Given the description of an element on the screen output the (x, y) to click on. 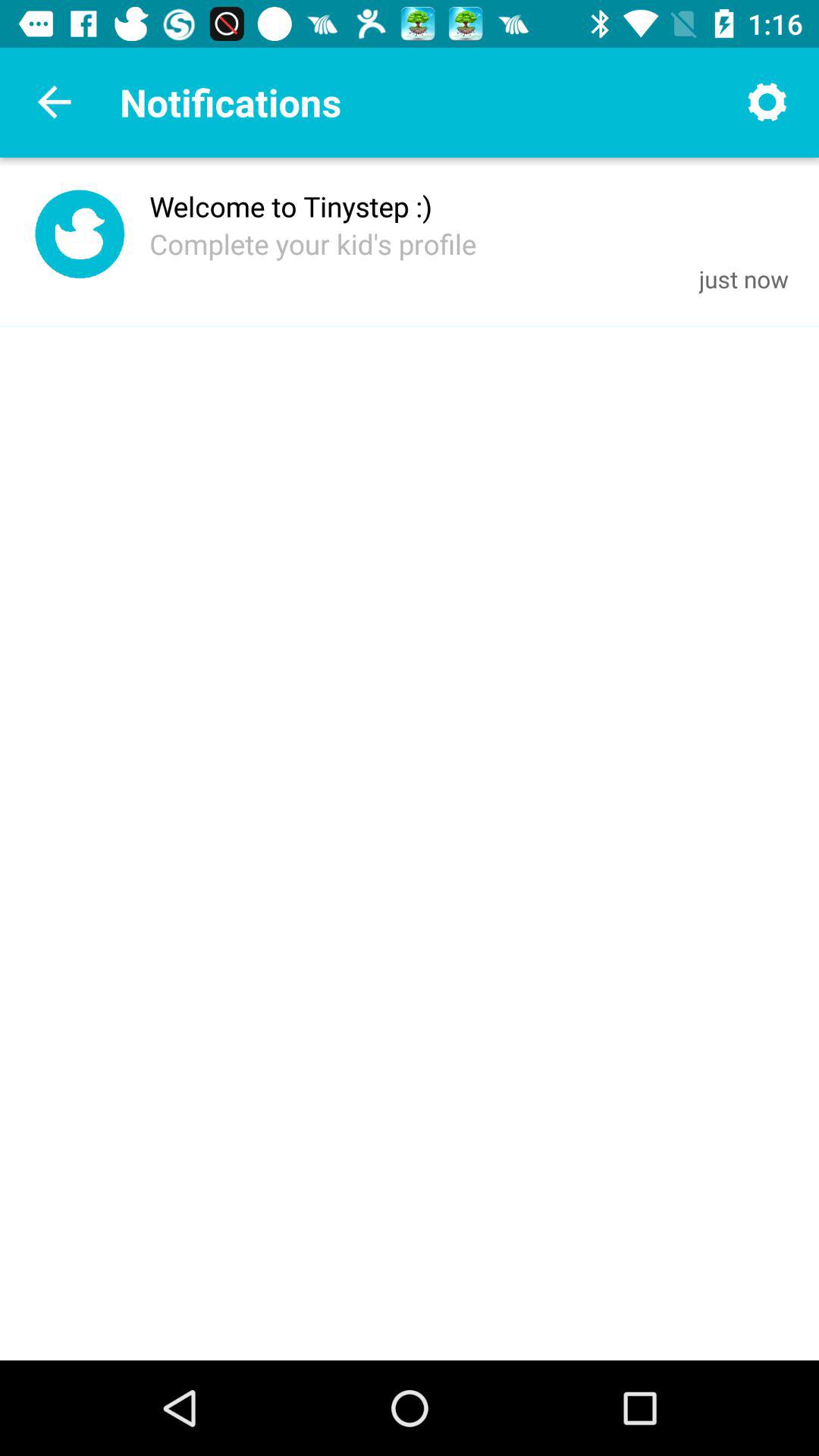
choose icon below notifications item (290, 206)
